Given the description of an element on the screen output the (x, y) to click on. 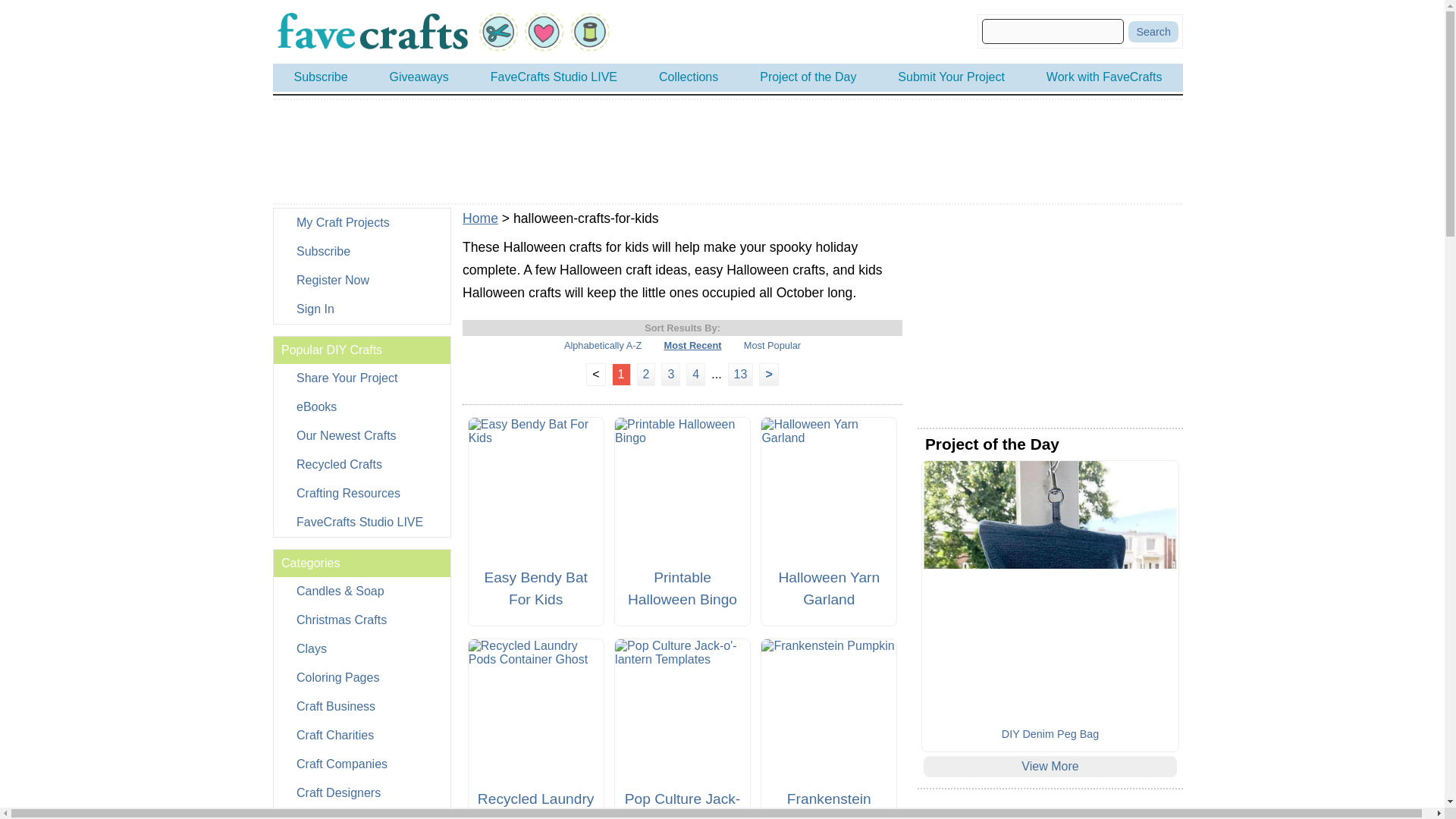
Go to Last Page (741, 373)
Go to Page 3 (670, 373)
Register Now (361, 280)
Go to Next Page (767, 373)
Go to Page 4 (694, 373)
My Craft Projects (361, 222)
Sign In (361, 308)
Subscribe (361, 251)
Search (1152, 31)
Go to Page 2 (646, 373)
